Given the description of an element on the screen output the (x, y) to click on. 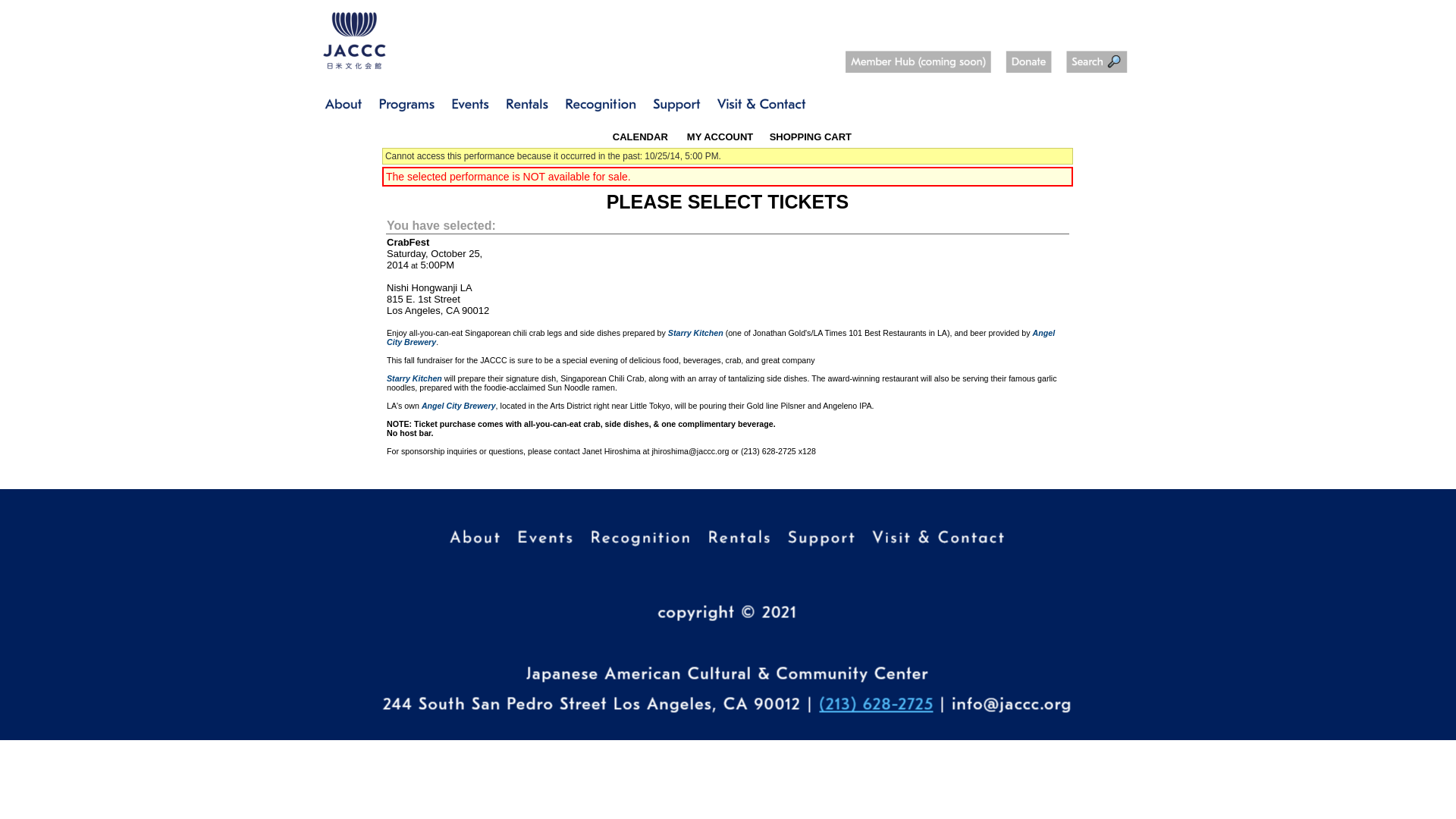
Starry Kitchen (695, 332)
Starry Kitchen (414, 378)
SHOPPING CART (810, 136)
Angel City Brewery (720, 337)
Angel City Brewery (459, 405)
CALENDAR (640, 136)
MY ACCOUNT (718, 136)
